Given the description of an element on the screen output the (x, y) to click on. 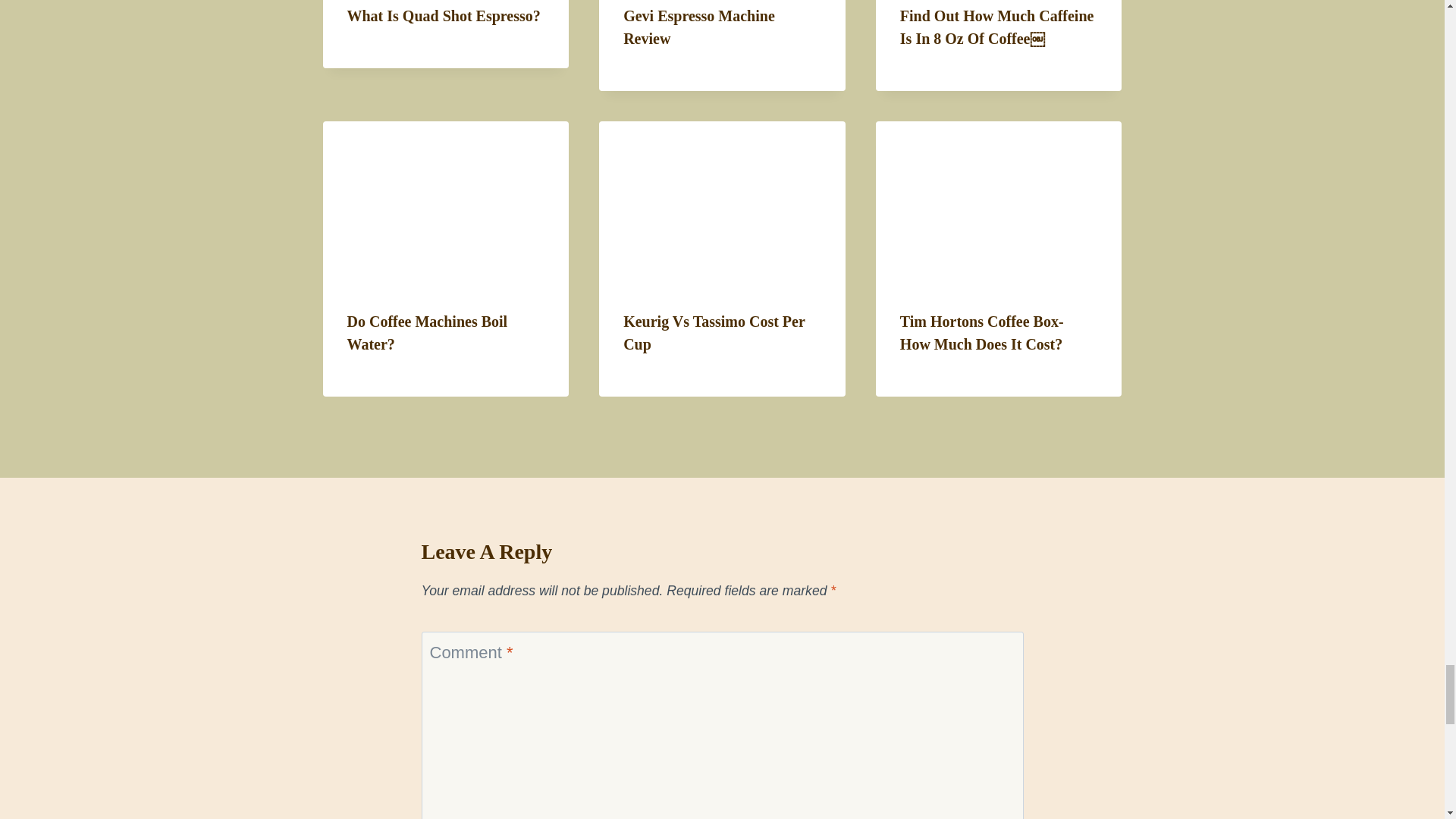
Gevi Espresso Machine Review (698, 26)
What Is Quad Shot Espresso? (443, 15)
Keurig Vs Tassimo Cost Per Cup (721, 203)
Coffee Machines Boil Water (446, 203)
